Given the description of an element on the screen output the (x, y) to click on. 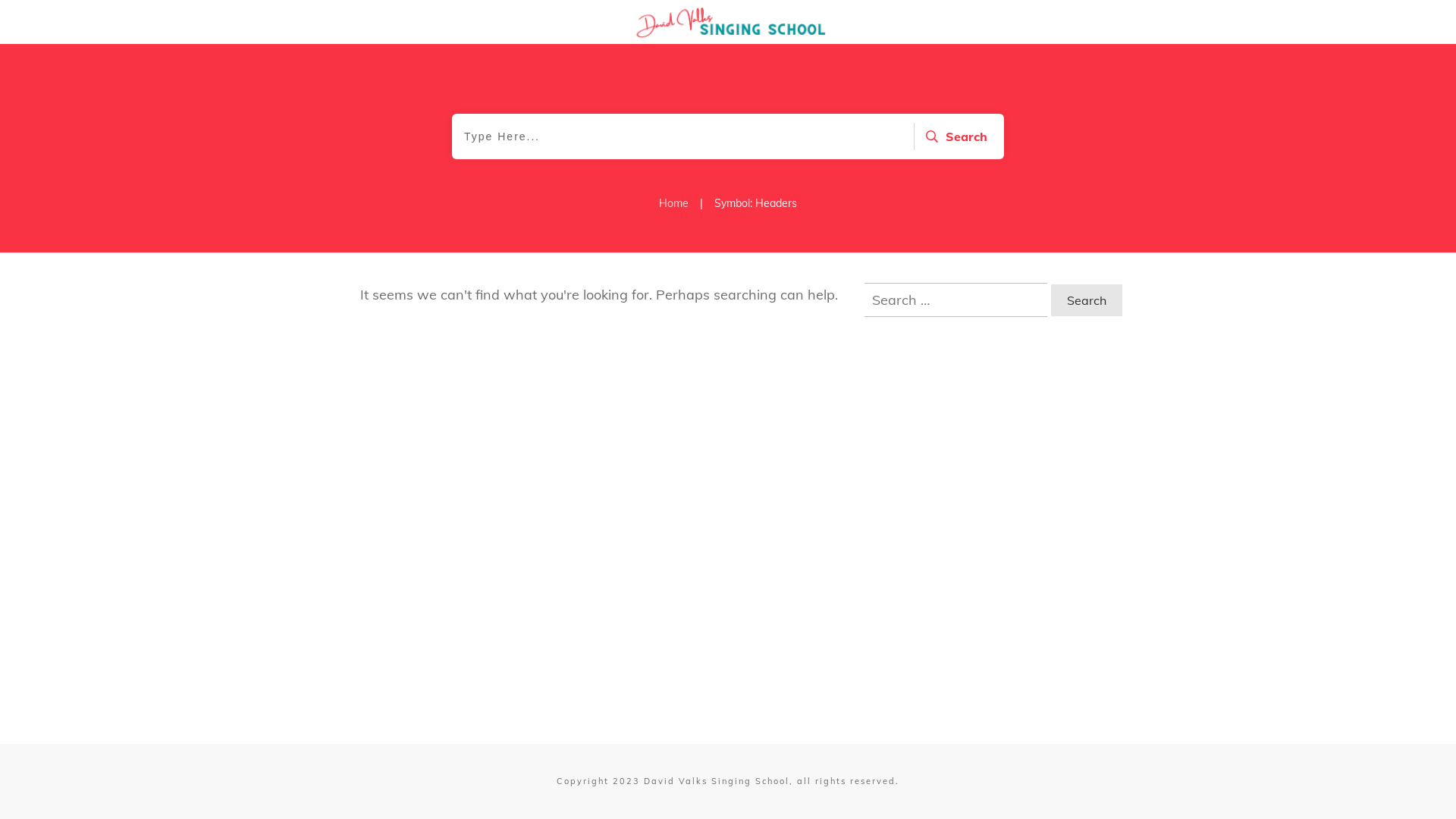
Home Element type: text (673, 203)
Search Element type: text (953, 136)
Search Element type: text (1086, 300)
